Given the description of an element on the screen output the (x, y) to click on. 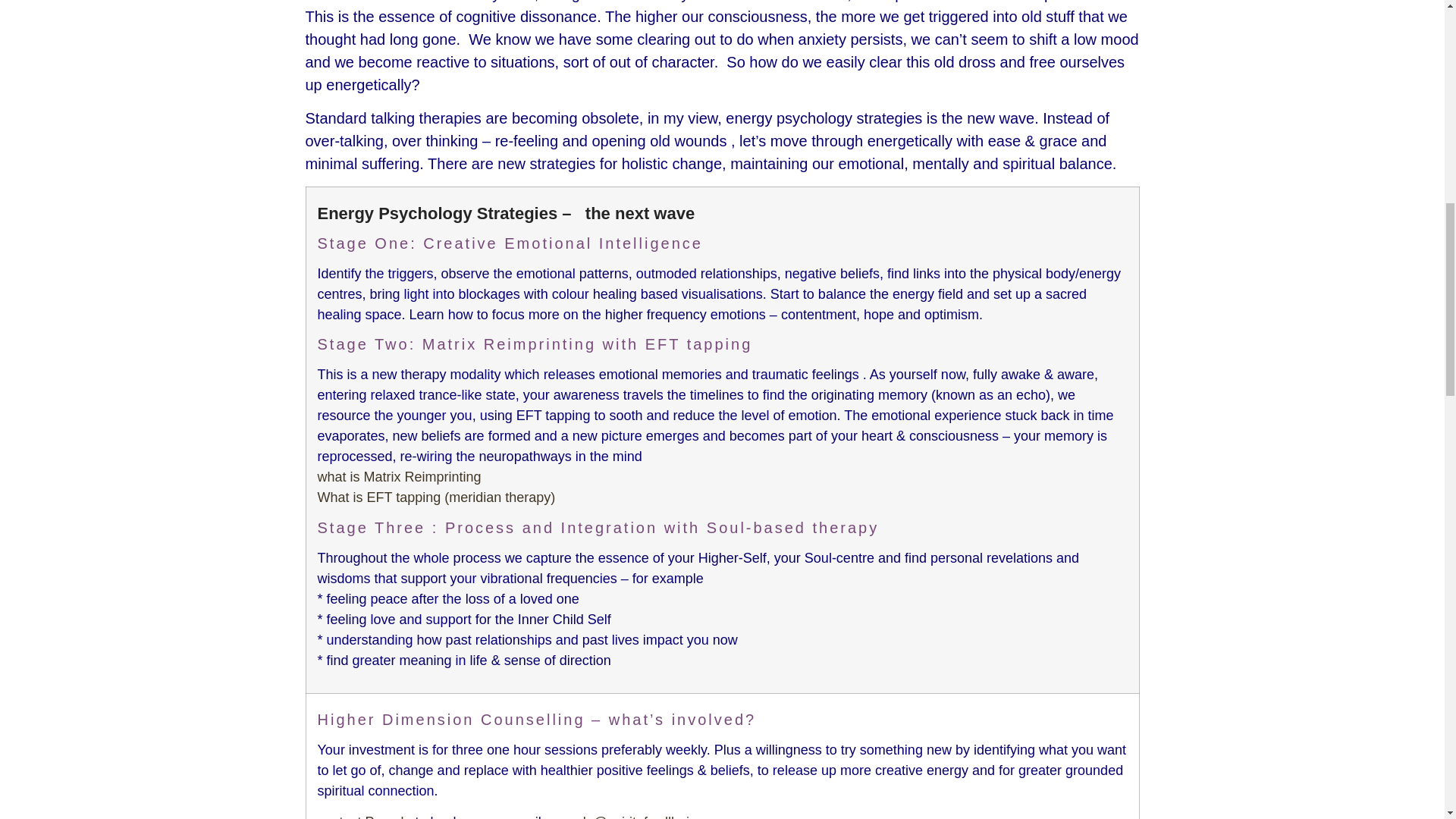
contact Pamela (363, 816)
what is Matrix Reimprinting (398, 476)
